Given the description of an element on the screen output the (x, y) to click on. 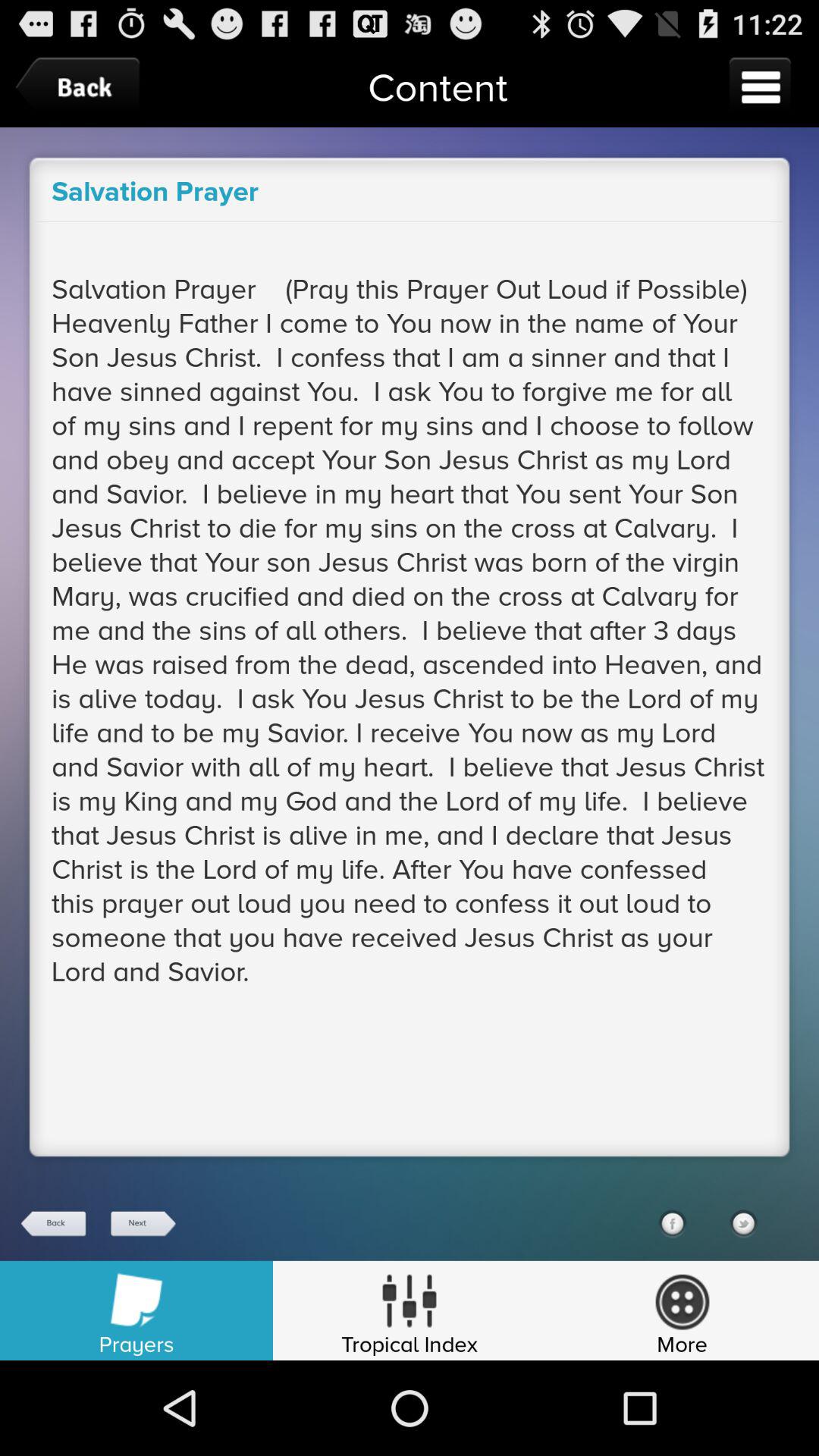
menu (760, 87)
